Given the description of an element on the screen output the (x, y) to click on. 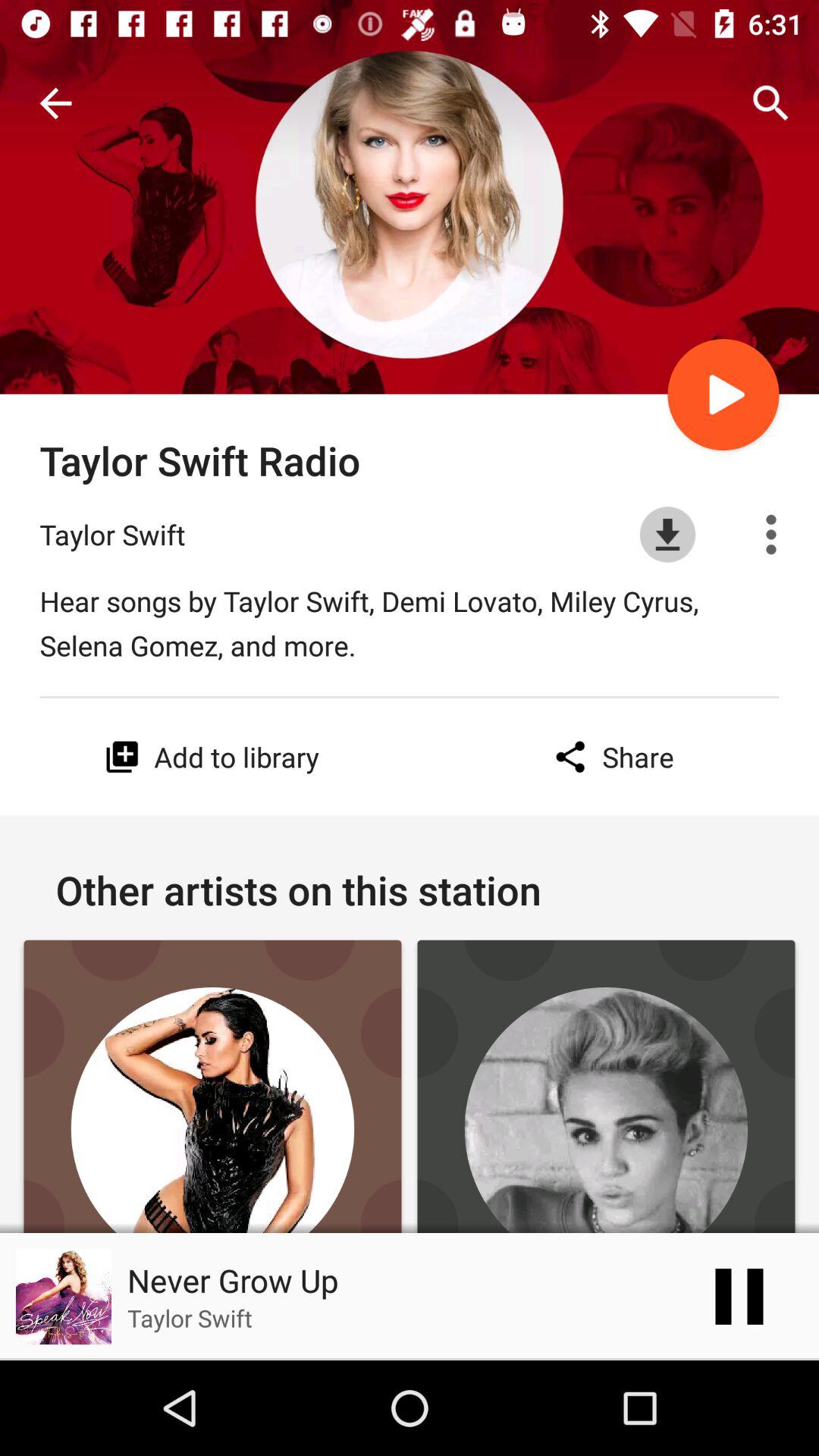
icon left to the text add to library (122, 757)
click on the pause button at the bottom (739, 1296)
click on the three dots in the right middle of the page (771, 534)
click on share icon which is beside add to library (610, 756)
